Given the description of an element on the screen output the (x, y) to click on. 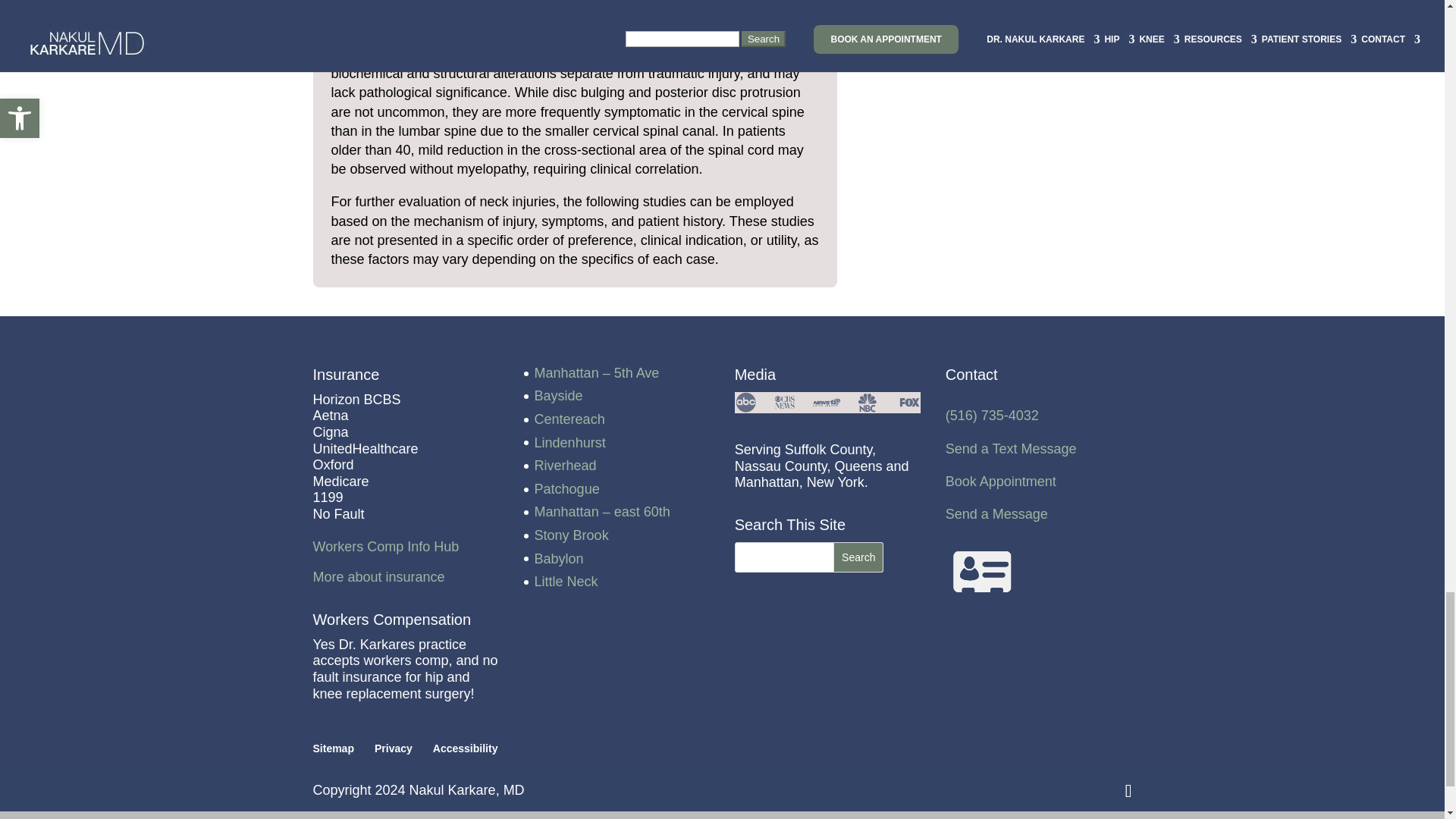
Download Dr. Karkare's vCard at Complete Orthopedics (983, 571)
media logos (828, 402)
Search (857, 557)
